Given the description of an element on the screen output the (x, y) to click on. 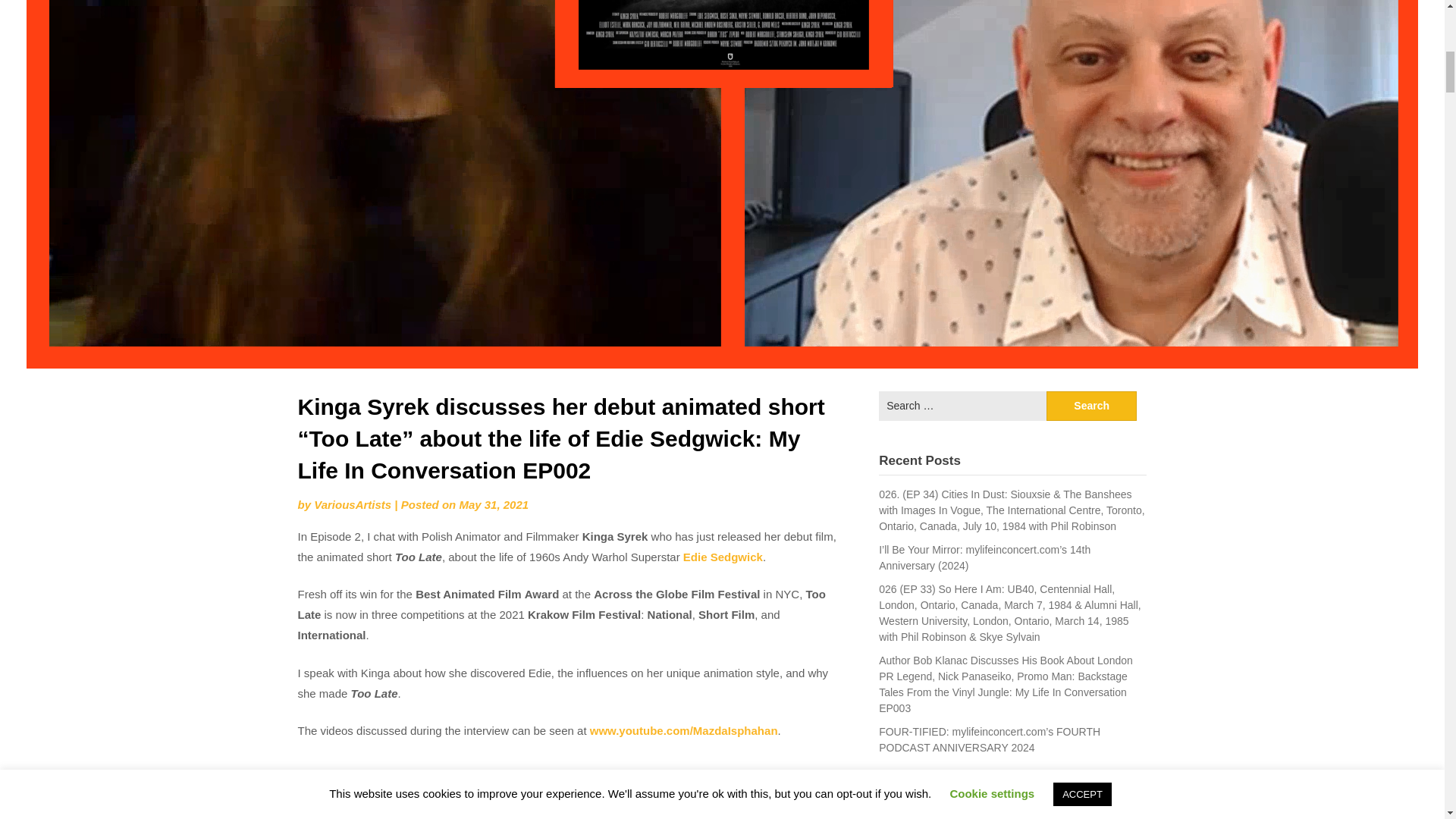
YouTube video player (570, 788)
Search (1091, 405)
May 31, 2021 (493, 504)
Search (1091, 405)
VariousArtists (352, 504)
Edie Sedgwick (722, 556)
